Given the description of an element on the screen output the (x, y) to click on. 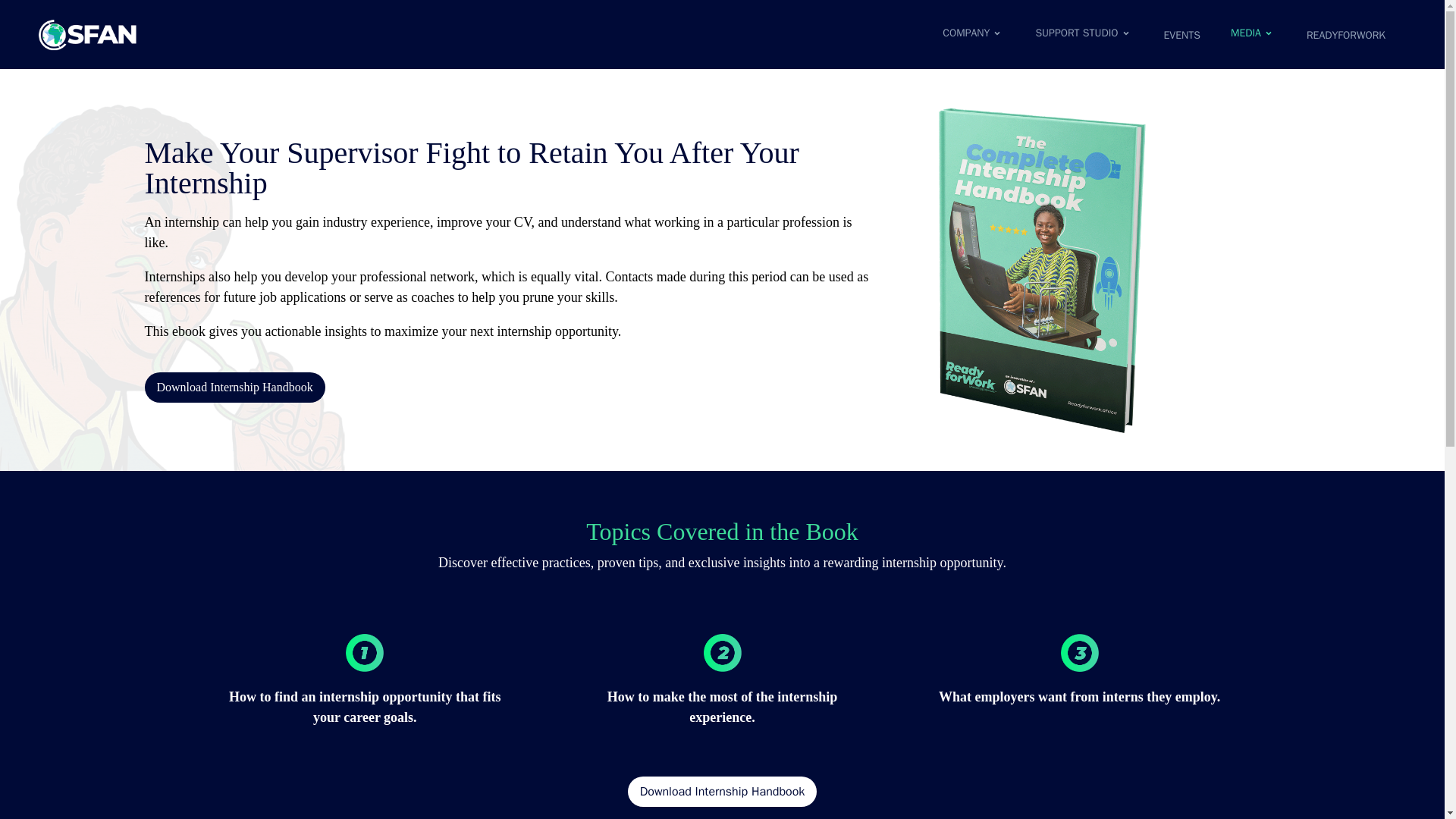
Download Internship Handbook (721, 791)
EVENTS (1181, 34)
MEDIA (1253, 32)
Download Internship Handbook (234, 387)
COMPANY (973, 32)
READYFORWORK (1346, 34)
SUPPORT STUDIO (1083, 32)
